Given the description of an element on the screen output the (x, y) to click on. 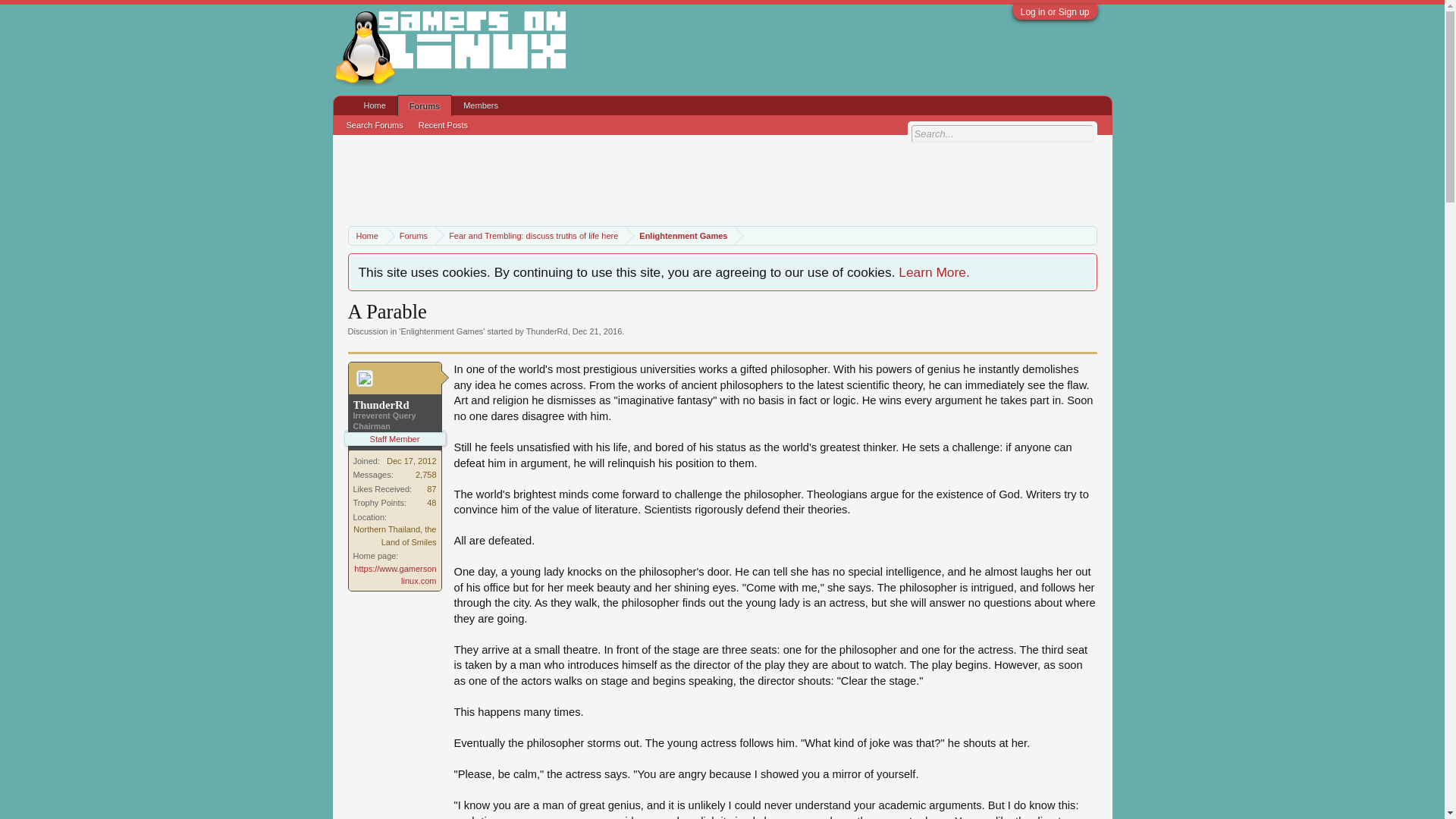
Dec 21, 2016 at 5:45 AM (596, 330)
2,758 (425, 474)
48 (430, 501)
Enlightenment Games (441, 330)
Dec 21, 2016 (596, 330)
Home (367, 235)
Learn More. (933, 272)
Forums (410, 235)
Northern Thailand, the Land of Smiles (394, 535)
